Given the description of an element on the screen output the (x, y) to click on. 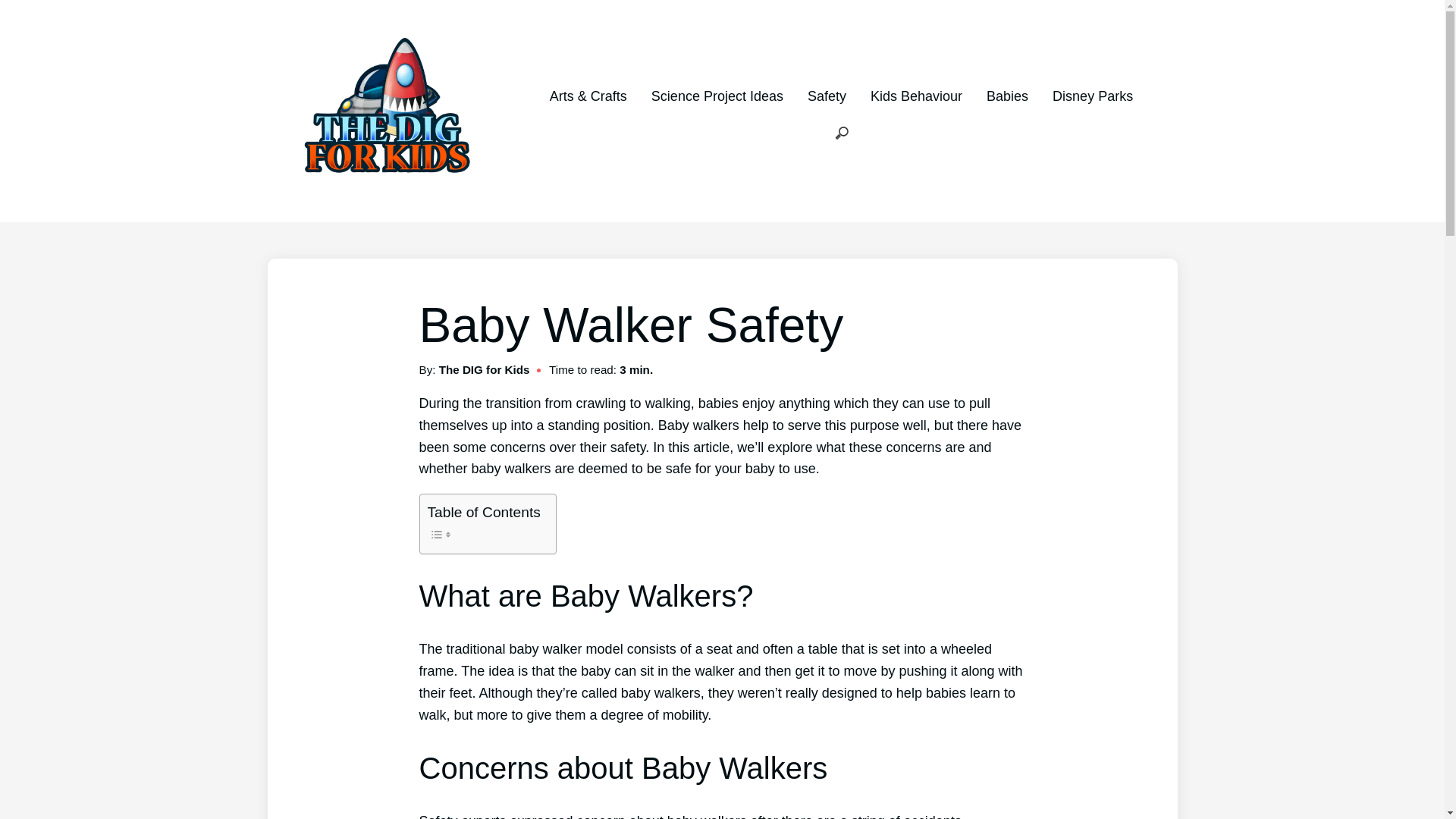
Search for: (841, 133)
Safety (826, 96)
Kids Behaviour (916, 96)
Disney Parks (1092, 96)
Babies (1007, 96)
Science Project Ideas (716, 96)
